Given the description of an element on the screen output the (x, y) to click on. 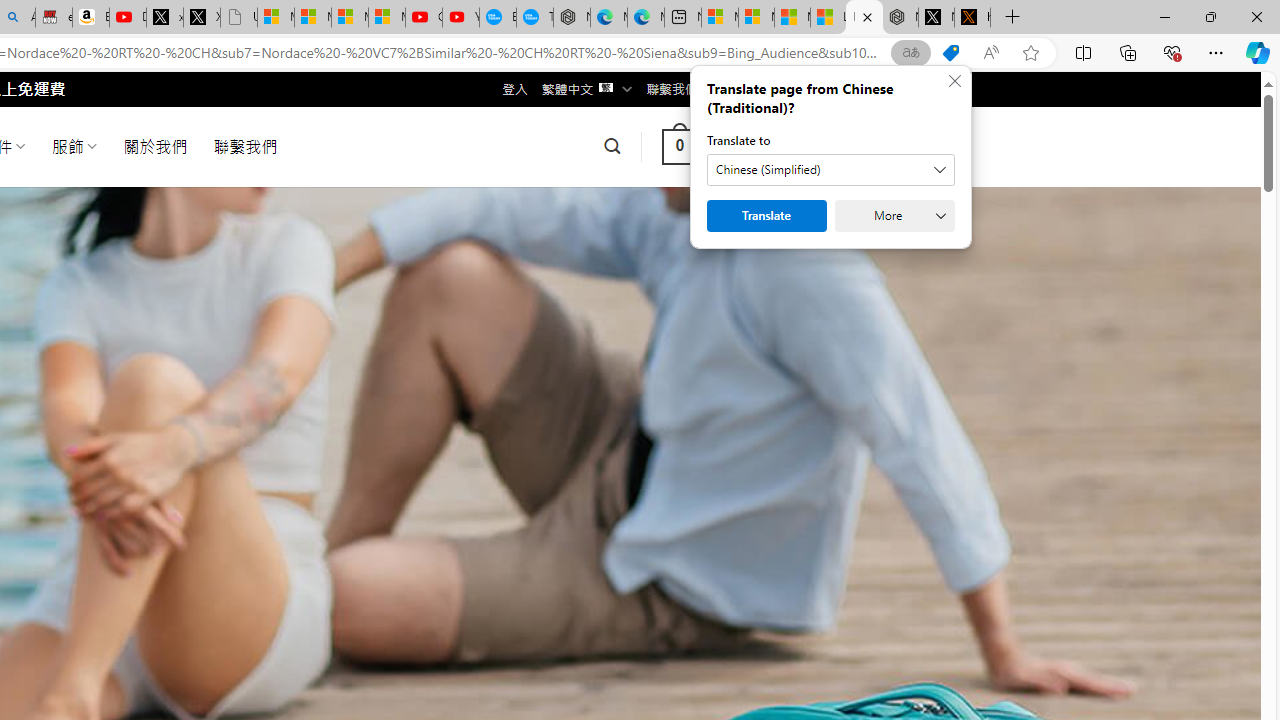
 0  (679, 146)
Gloom - YouTube (423, 17)
The most popular Google 'how to' searches (534, 17)
Untitled (239, 17)
